Given the description of an element on the screen output the (x, y) to click on. 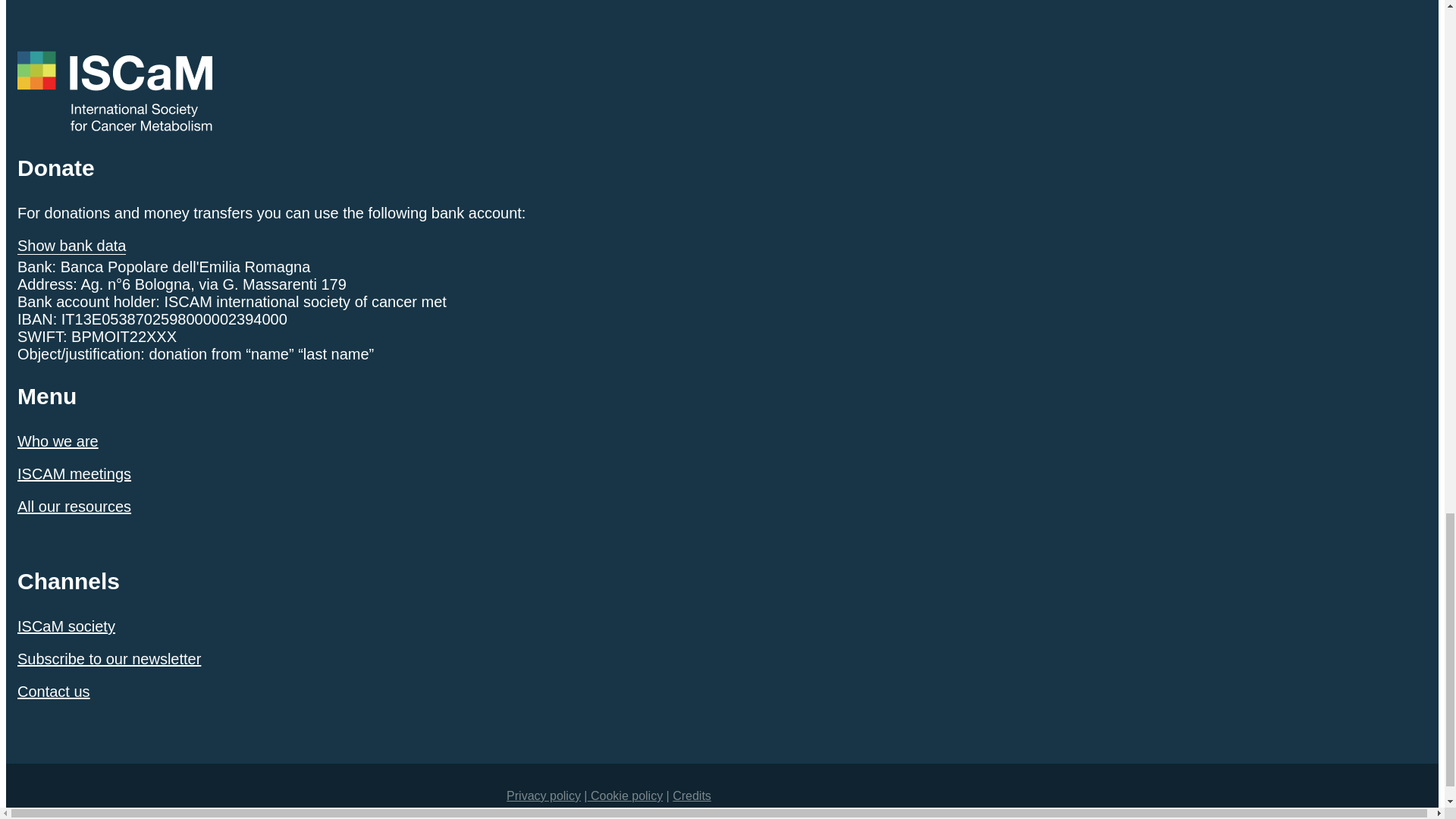
Subscribe to our newsletter (108, 658)
Credits (691, 795)
Who we are (58, 441)
Show bank data (71, 245)
All our resources (74, 506)
ISCAM meetings (74, 474)
Contact us (53, 691)
Cookie policy (625, 795)
Privacy policy (543, 795)
ISCaM society (66, 626)
